Given the description of an element on the screen output the (x, y) to click on. 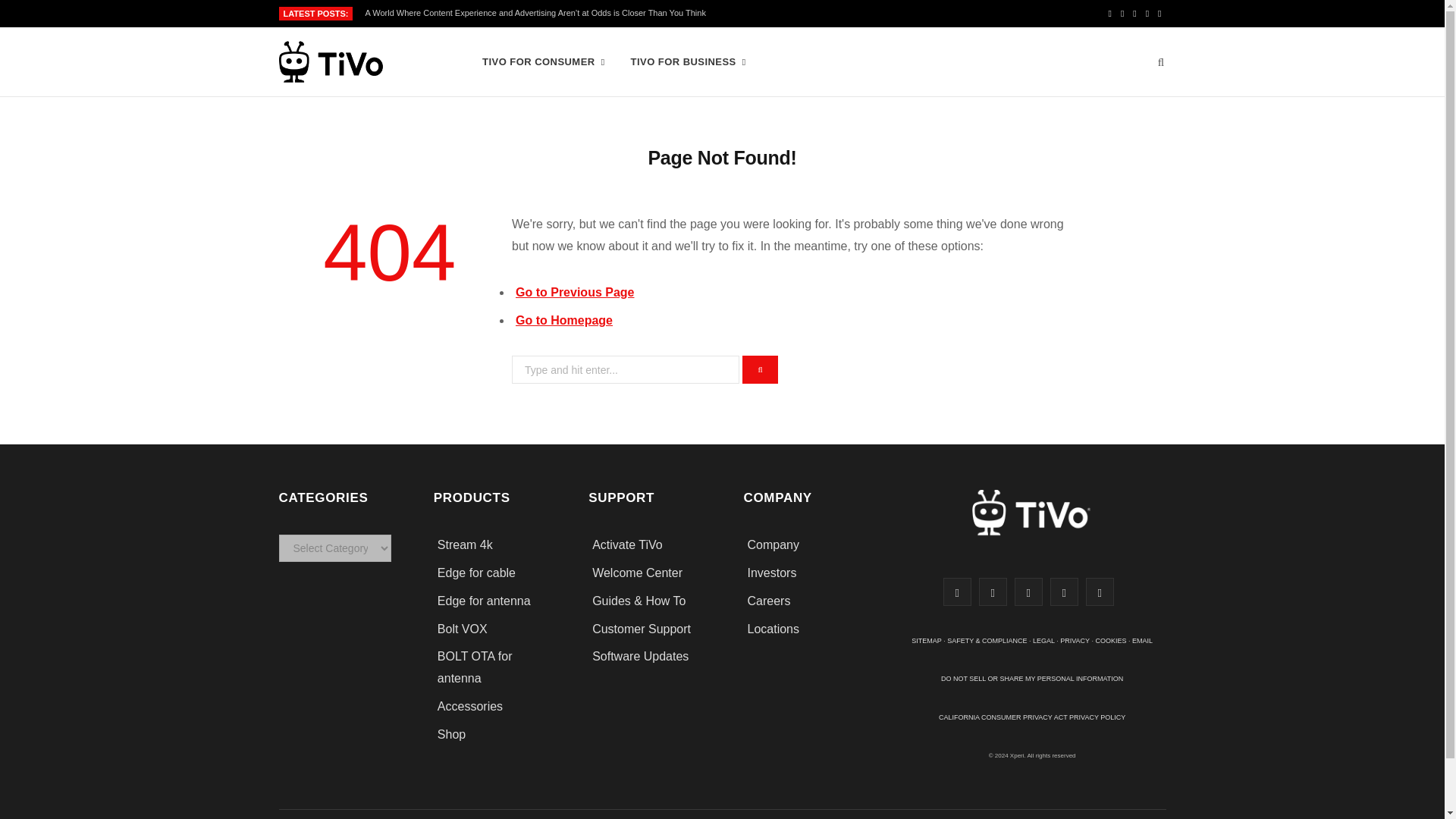
BOLT OTA for antenna (475, 667)
TIVO FOR CONSUMER (542, 61)
Go to Homepage (563, 319)
Shop (451, 734)
Stream 4k (465, 544)
Welcome Center (637, 572)
Accessories  (472, 706)
Search for: (625, 369)
TIVO FOR BUSINESS (688, 61)
Go to Previous Page (574, 291)
Edge for cable (476, 572)
Bolt VOX (462, 628)
Activate TiVo (627, 544)
Edge for antenna (484, 600)
TiVo Blog (365, 61)
